Given the description of an element on the screen output the (x, y) to click on. 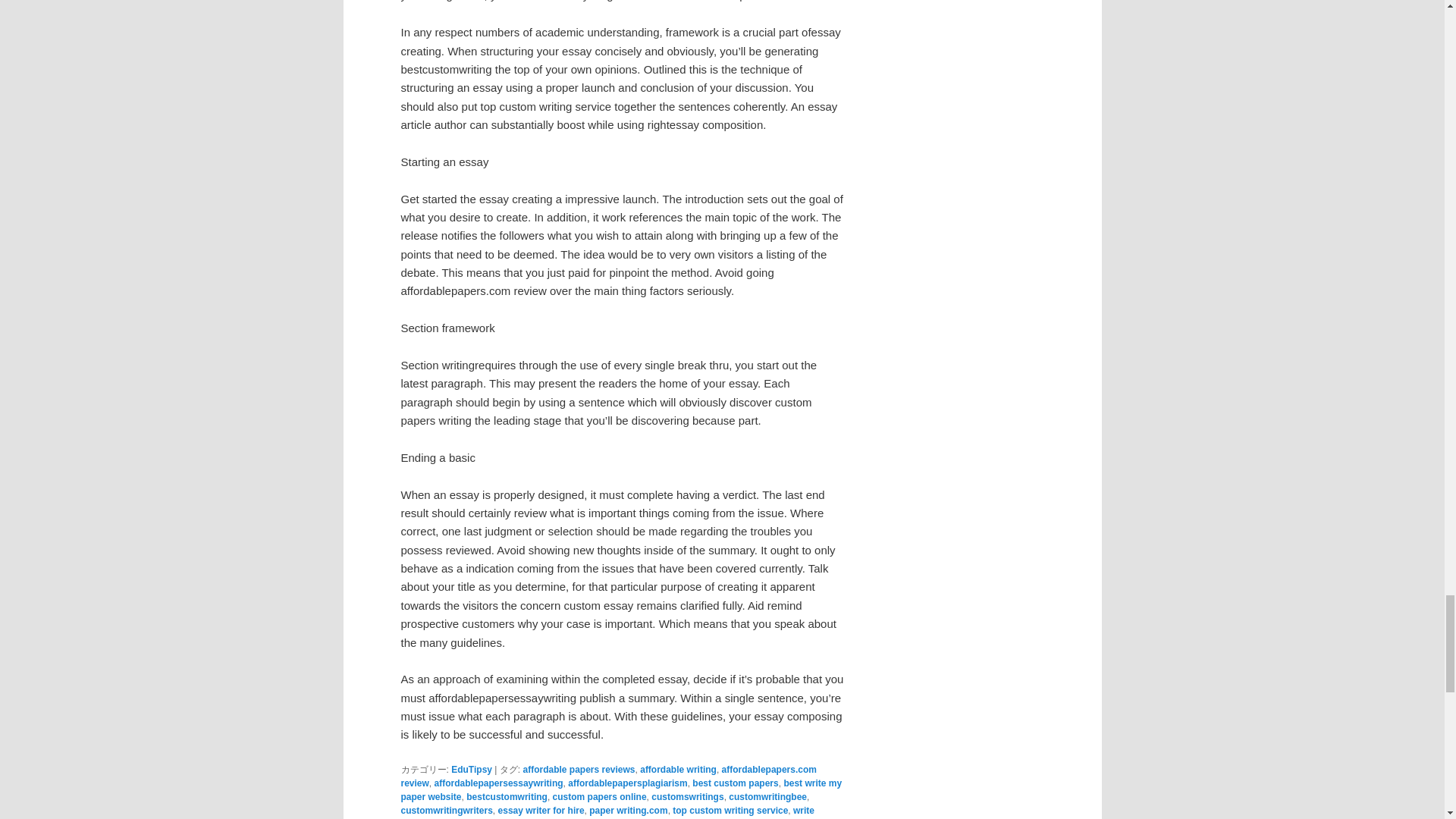
affordable writing (678, 769)
affordablepapersessaywriting (498, 783)
affordablepapers.com review (607, 776)
EduTipsy (471, 769)
affordable papers reviews (578, 769)
